Given the description of an element on the screen output the (x, y) to click on. 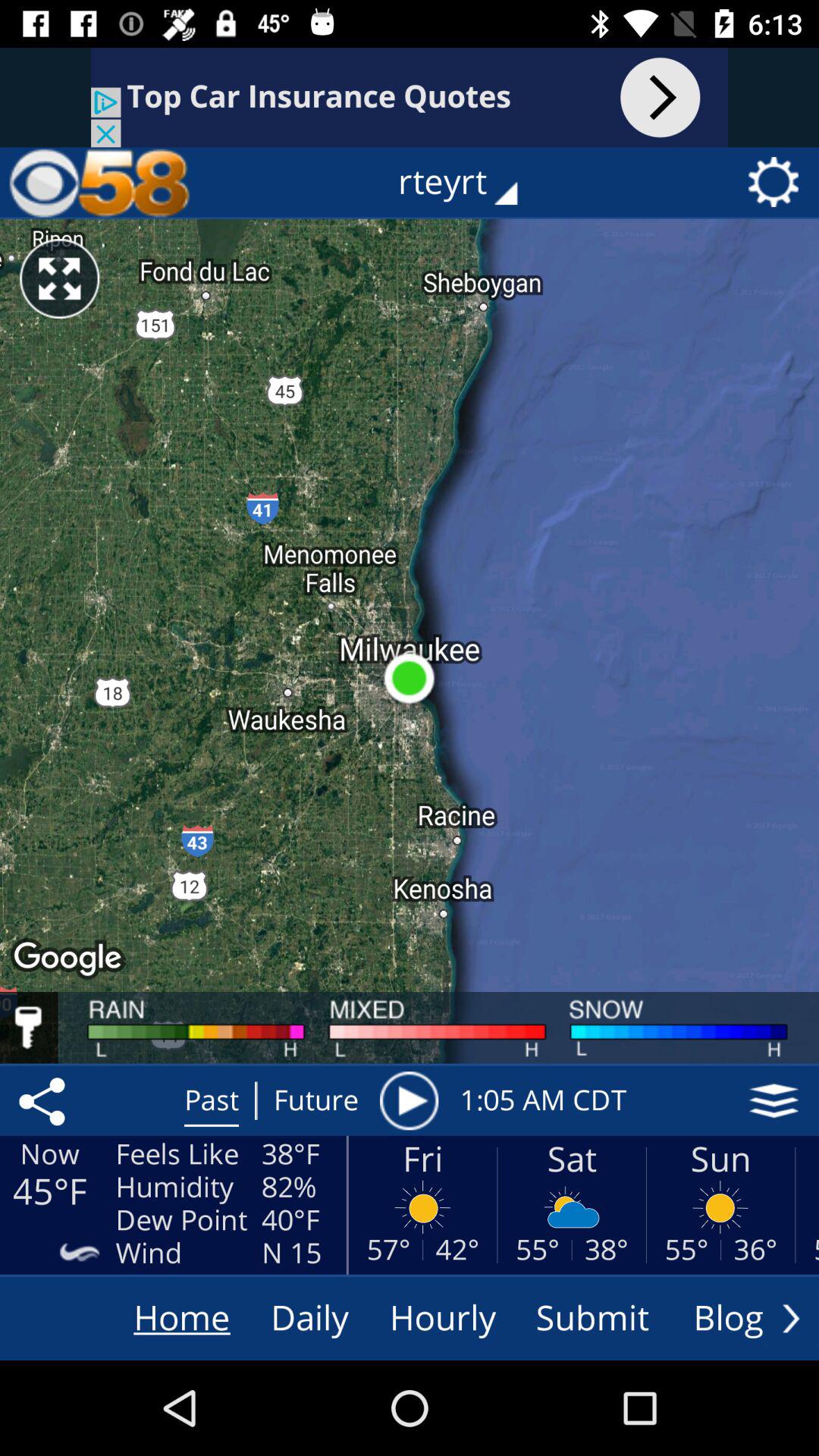
open icon to the left of 1 05 am (409, 1100)
